Given the description of an element on the screen output the (x, y) to click on. 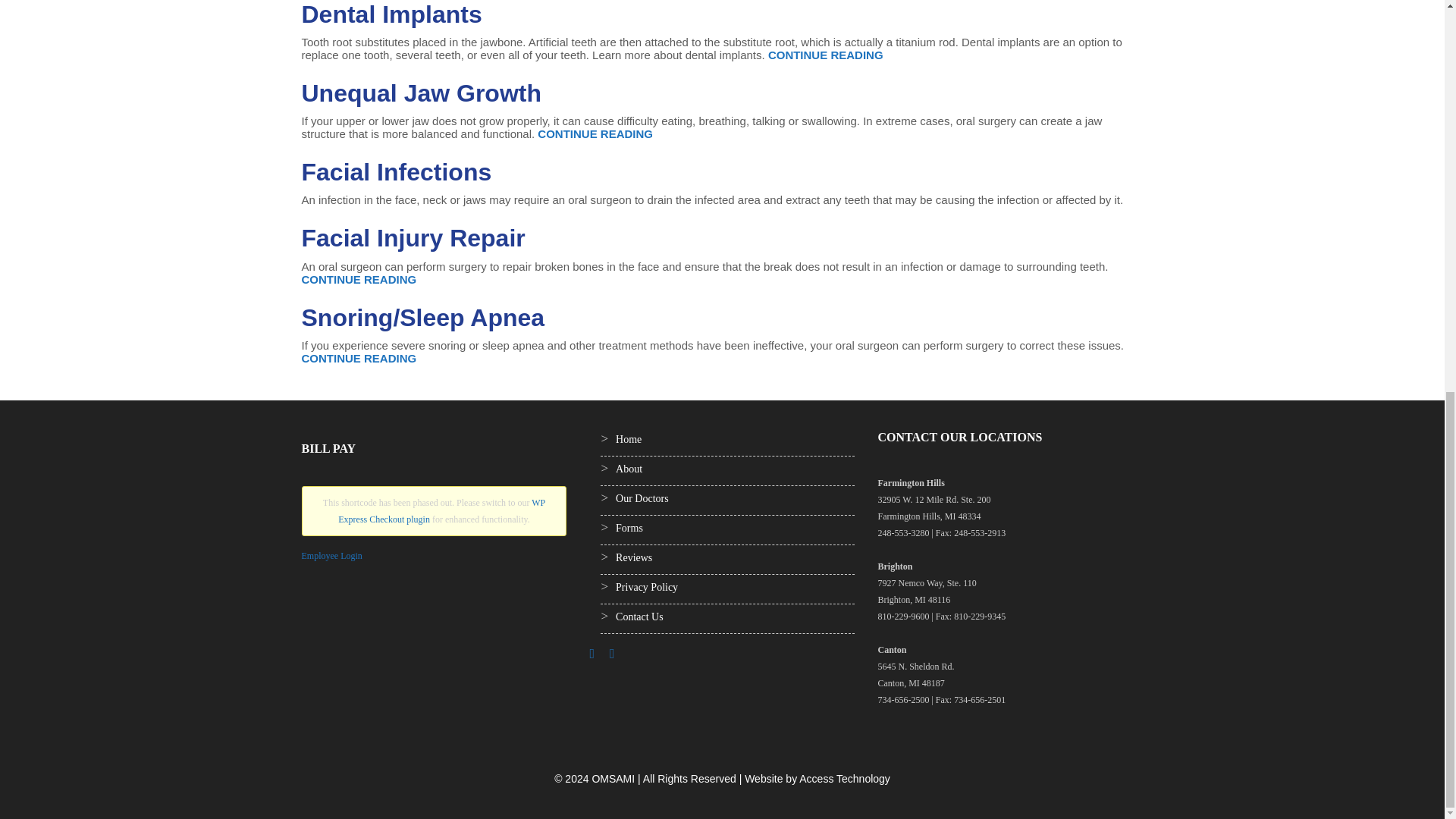
CONTINUE READING (358, 358)
CONTINUE READING (358, 278)
CONTINUE READING (825, 54)
CONTINUE READING (594, 133)
